Given the description of an element on the screen output the (x, y) to click on. 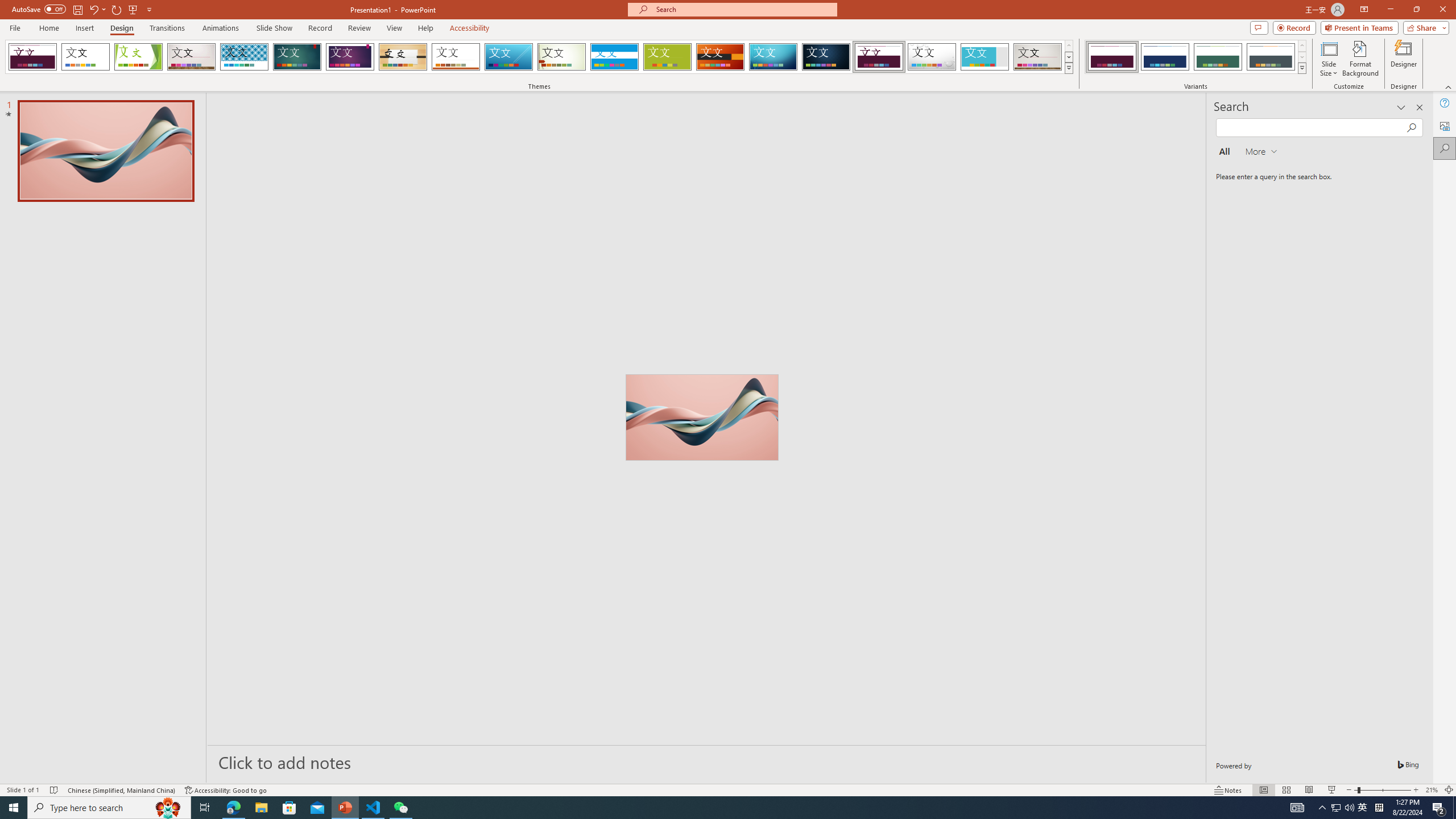
Dividend Variant 2 (1164, 56)
Wavy 3D art (701, 417)
AutomationID: ThemeVariantsGallery (1195, 56)
Banded (614, 56)
Slide Size (1328, 58)
Zoom 21% (1431, 790)
Office Theme (85, 56)
